Given the description of an element on the screen output the (x, y) to click on. 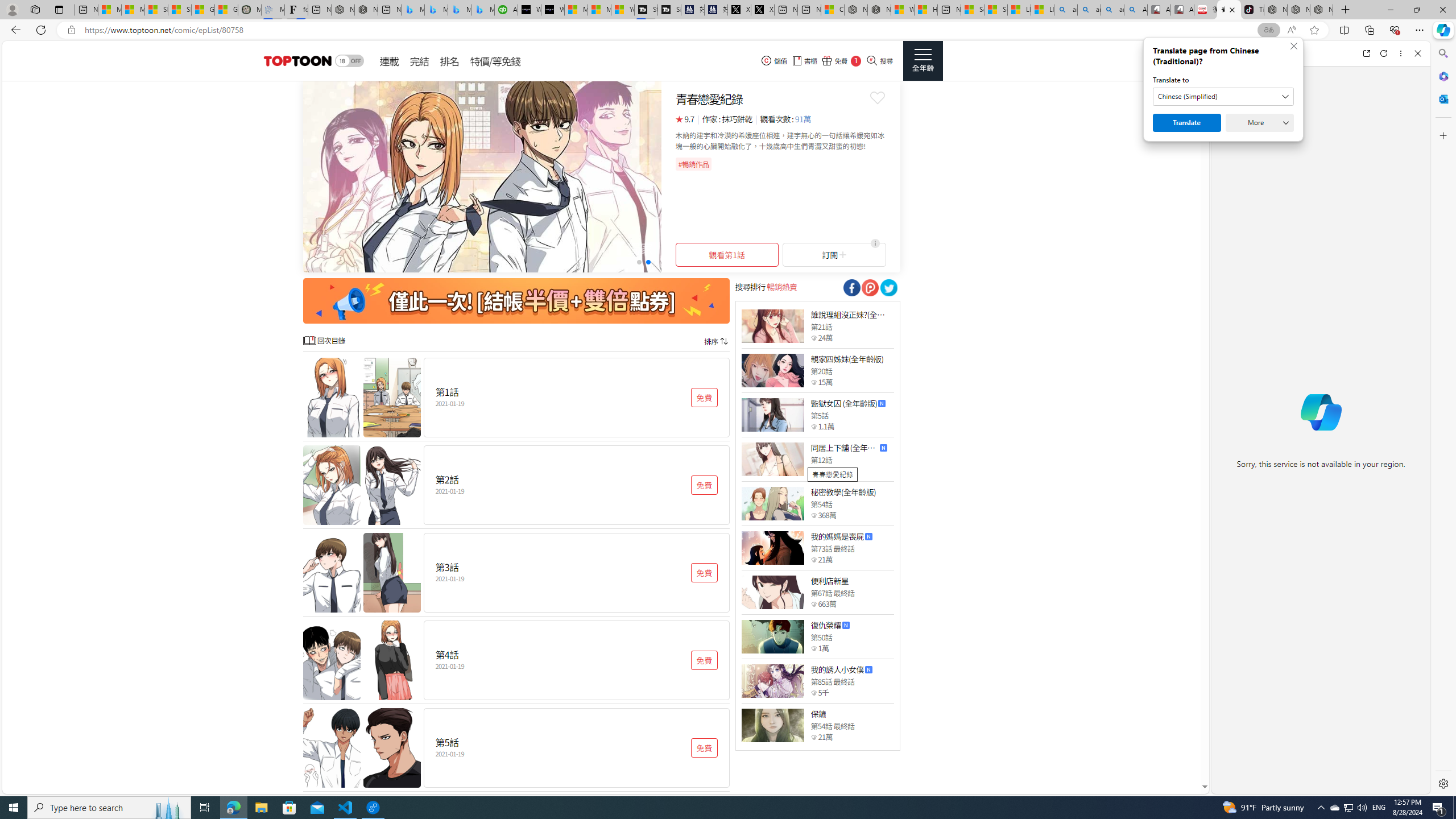
Microsoft 365 (1442, 76)
Settings (1442, 783)
TikTok (1252, 9)
Streaming Coverage | T3 (645, 9)
Translate (1187, 122)
